Given the description of an element on the screen output the (x, y) to click on. 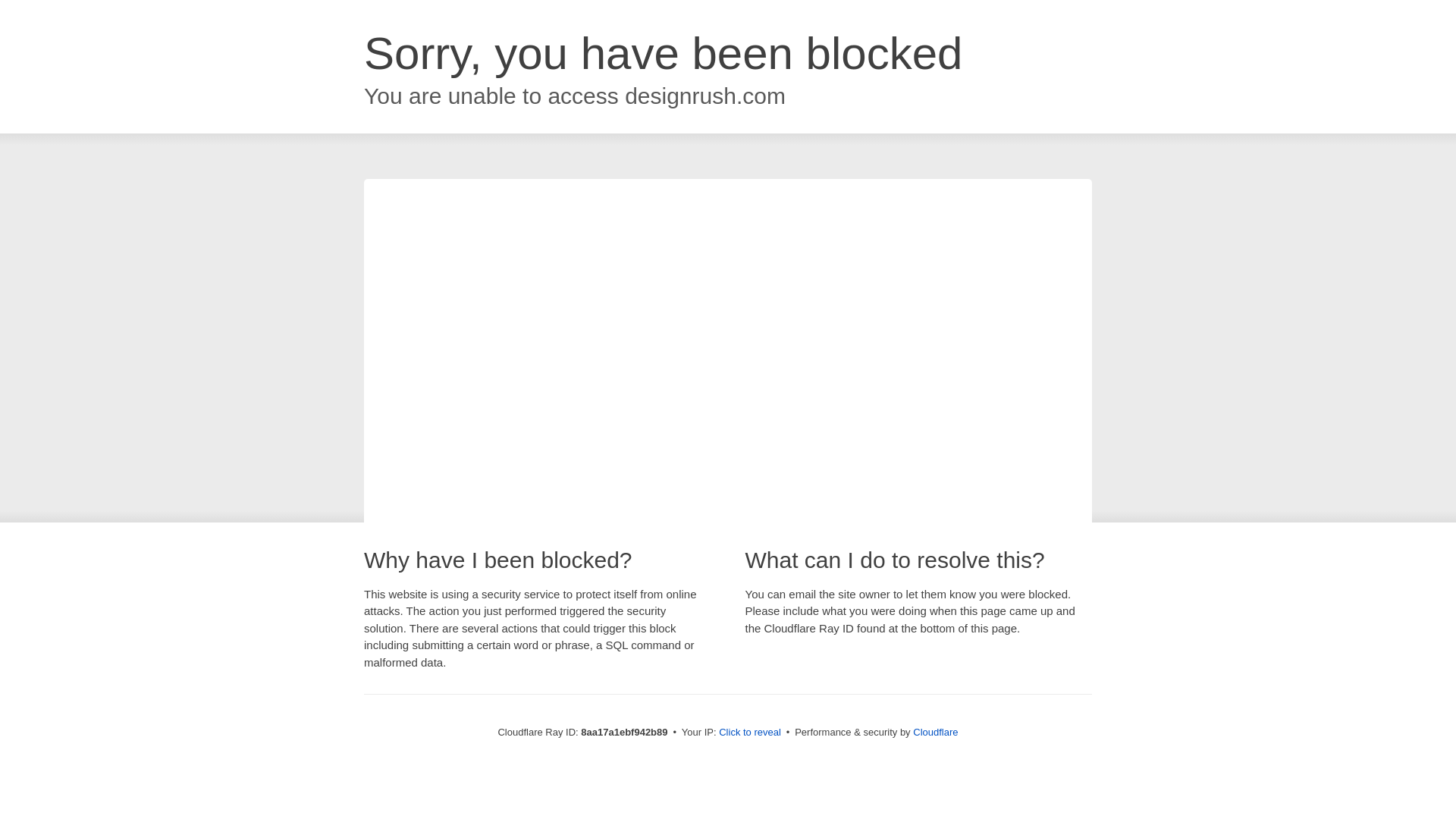
Cloudflare (935, 731)
Click to reveal (749, 732)
